Given the description of an element on the screen output the (x, y) to click on. 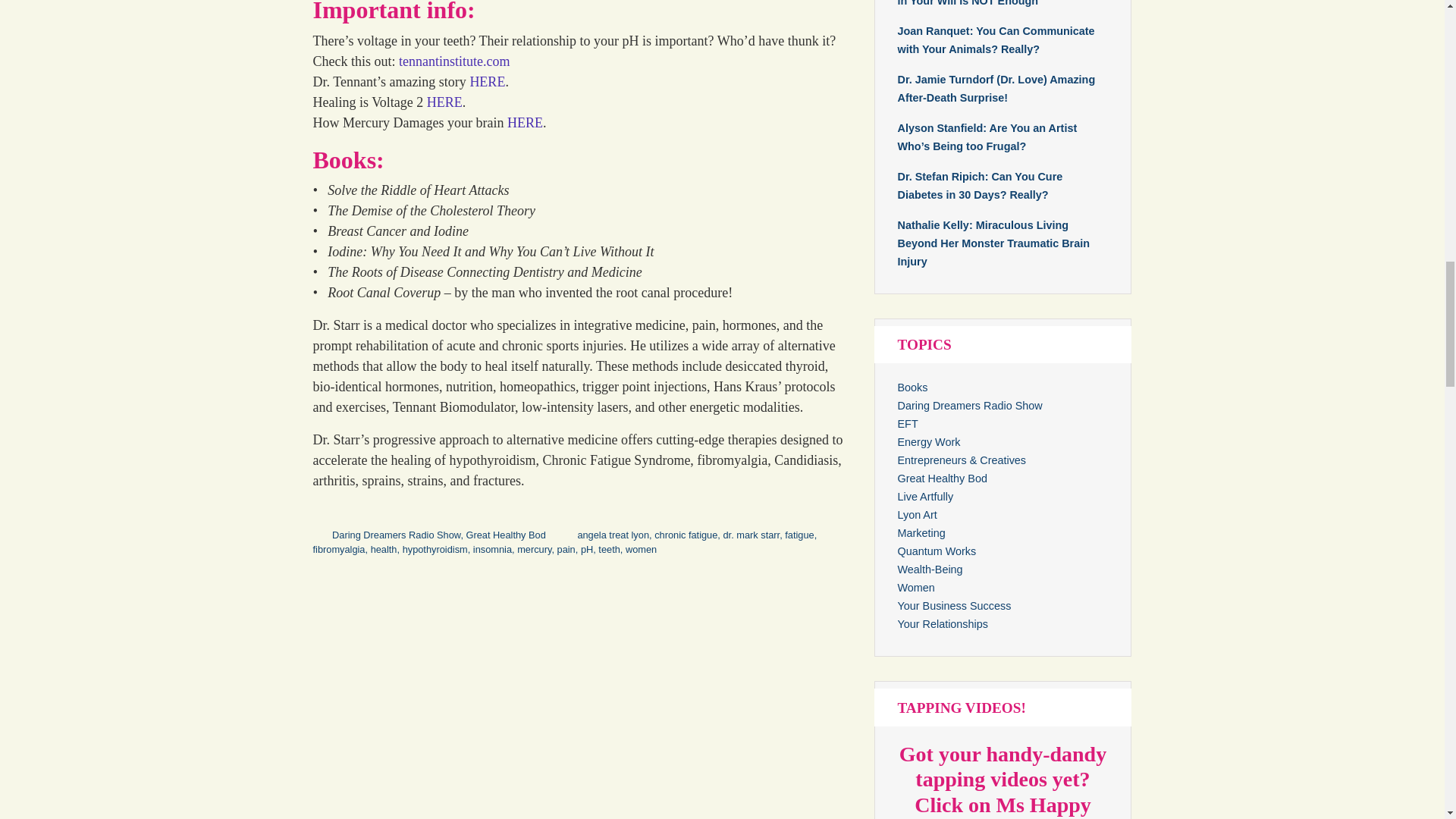
HERE (486, 81)
teeth (609, 549)
fatigue (798, 534)
health (384, 549)
angela treat lyon (612, 534)
fibromyalgia (339, 549)
Great Healthy Bod (504, 534)
mercury (533, 549)
chronic fatigue (685, 534)
insomnia (492, 549)
pH (586, 549)
dr. mark starr (750, 534)
Daring Dreamers Radio Show (395, 534)
tennantinstitute.com (453, 61)
hypothyroidism (435, 549)
